Given the description of an element on the screen output the (x, y) to click on. 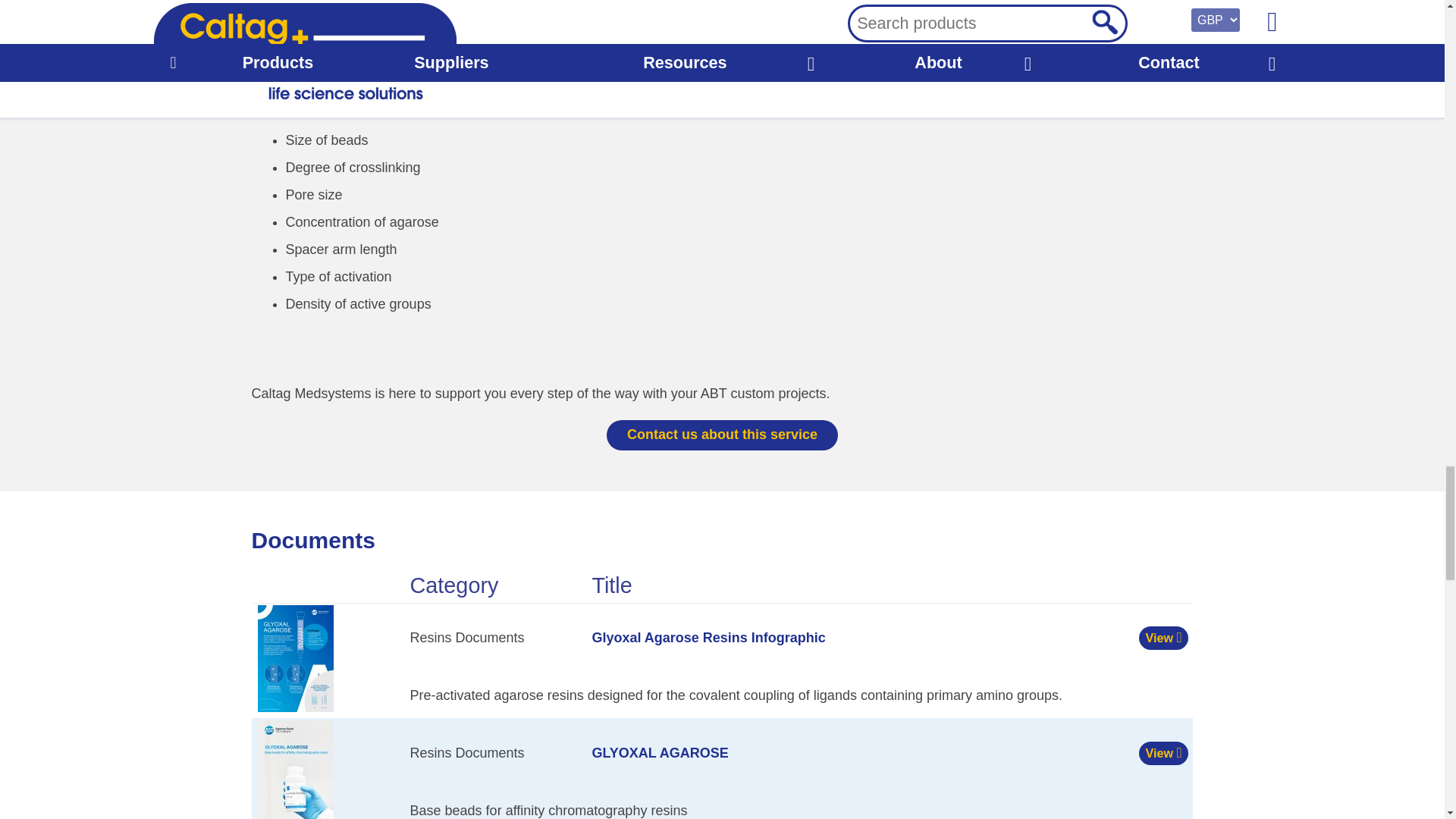
Glyoxal Agarose Resins Infographic (708, 637)
View (1163, 638)
Contact us about this service (722, 435)
